Given the description of an element on the screen output the (x, y) to click on. 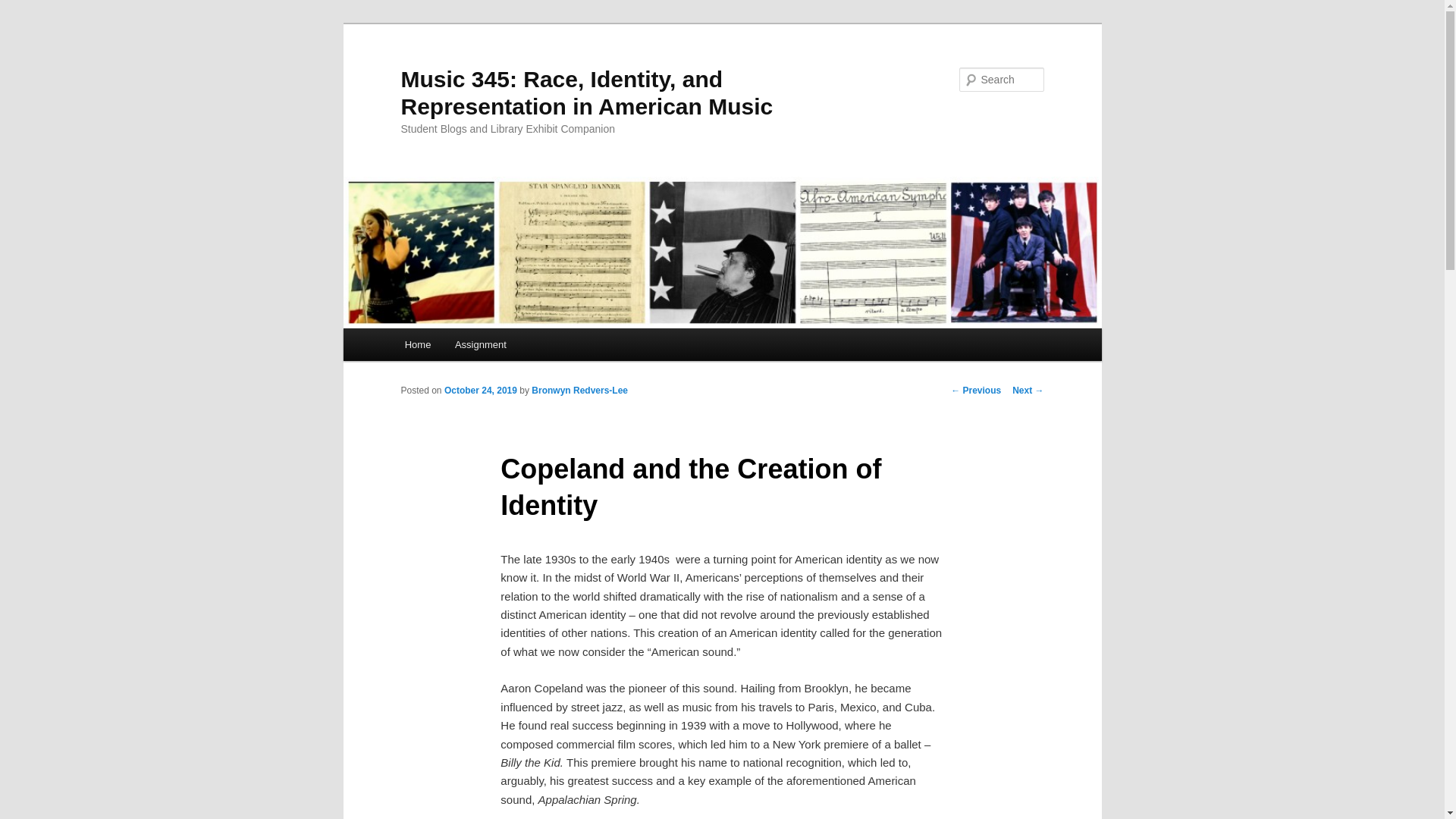
Assignment (480, 344)
October 24, 2019 (480, 389)
Search (24, 8)
Bronwyn Redvers-Lee (579, 389)
View all posts by Bronwyn Redvers-Lee (579, 389)
9:09 am (480, 389)
Home (417, 344)
